Given the description of an element on the screen output the (x, y) to click on. 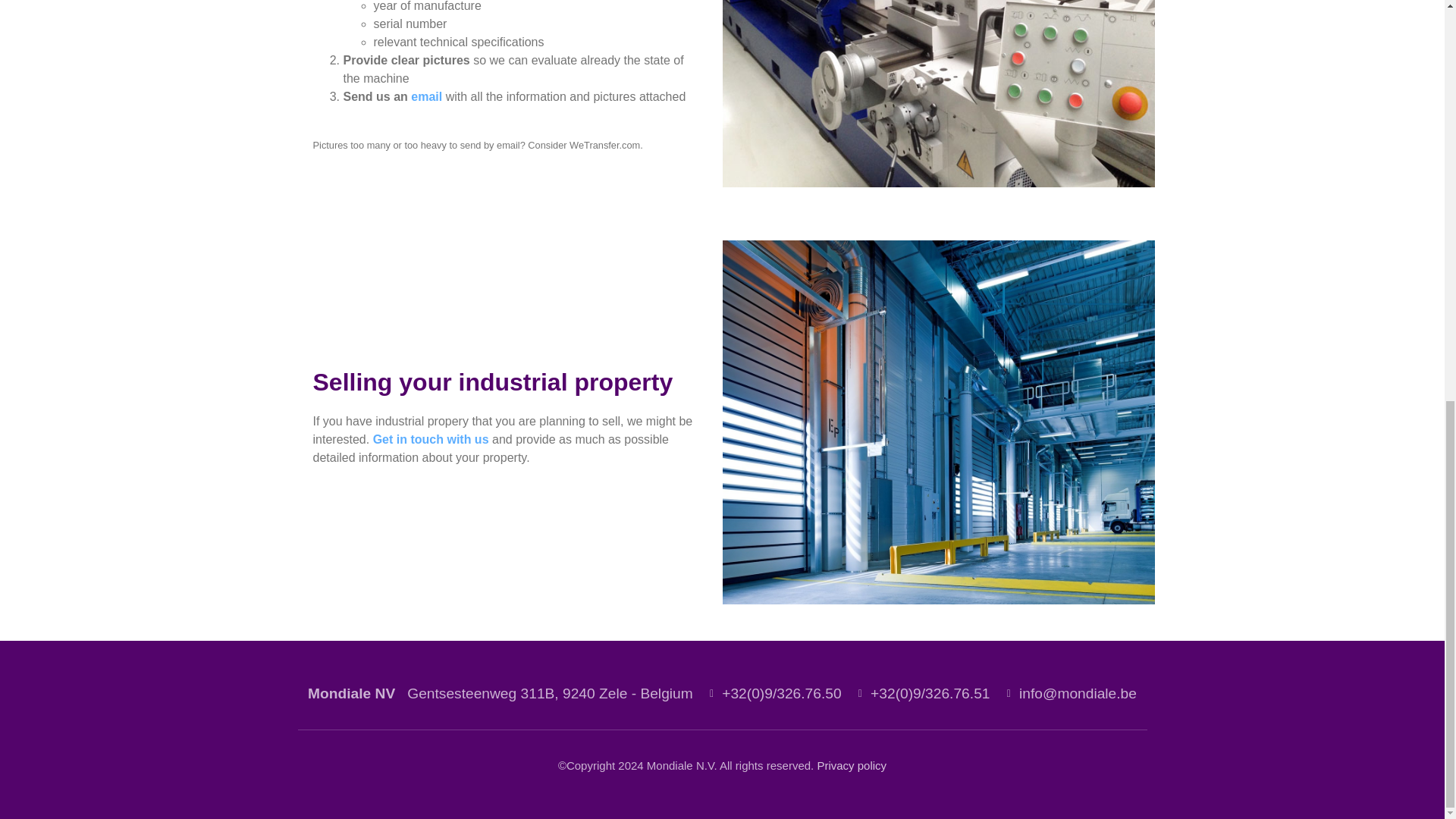
email (426, 96)
Mondiale NV (350, 693)
Gentsesteenweg 311B, 9240 Zele - Belgium (550, 693)
Get in touch with us (430, 439)
